Given the description of an element on the screen output the (x, y) to click on. 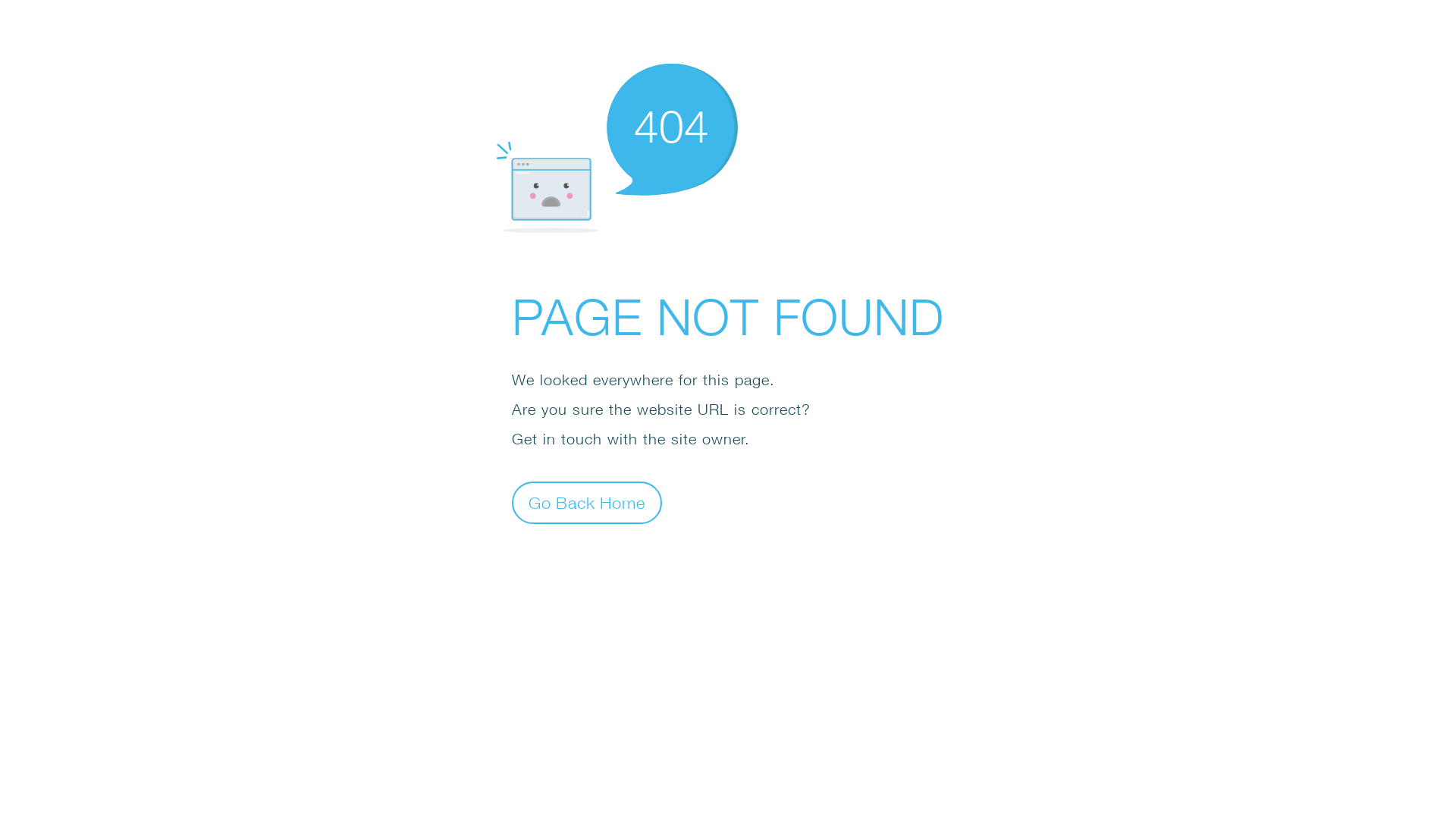
Go Back Home Element type: text (586, 502)
